Given the description of an element on the screen output the (x, y) to click on. 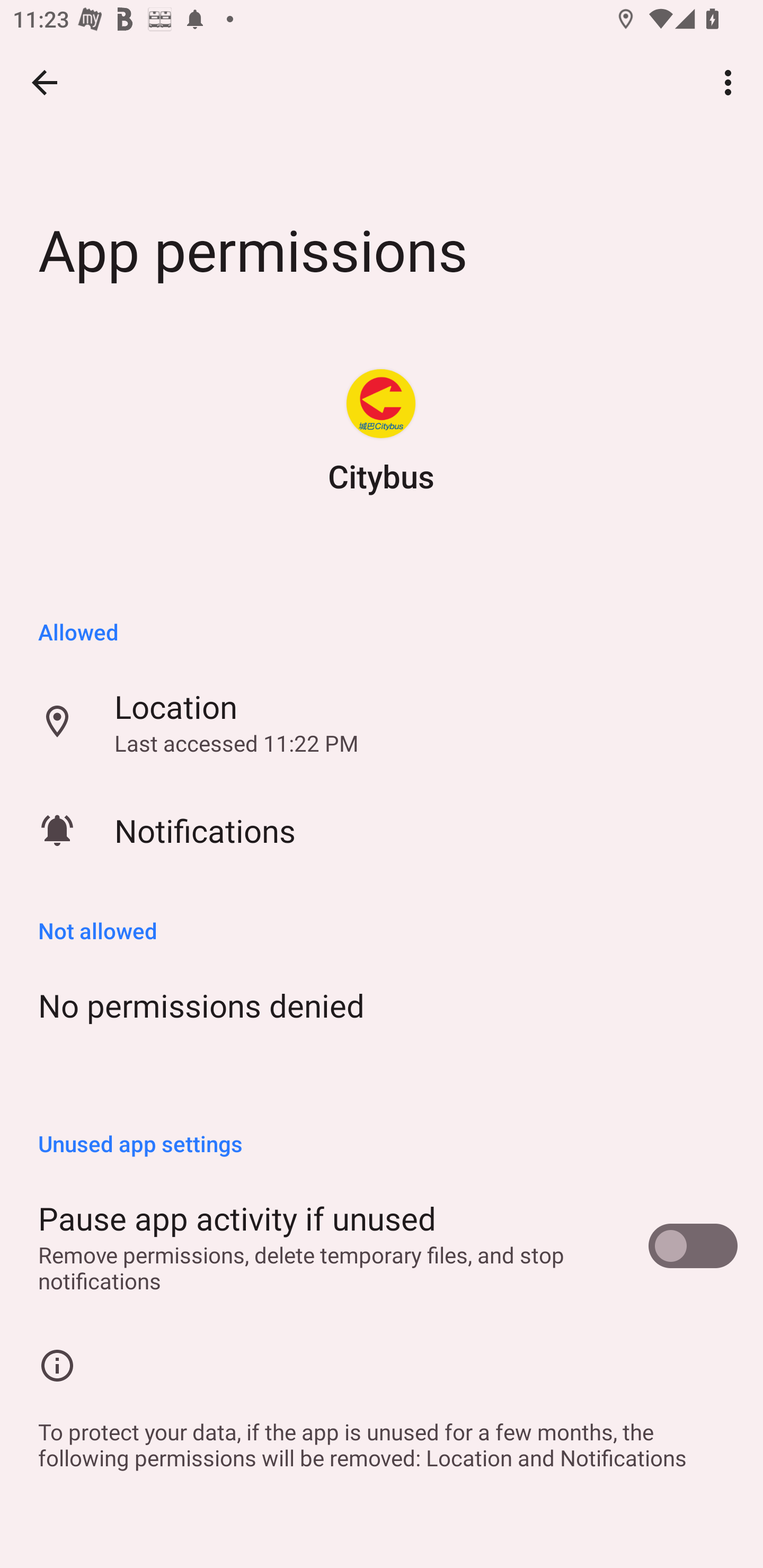
Back (44, 82)
More options (731, 81)
Citybus (380, 403)
Location Last accessed 11:22 PM (381, 722)
Notifications (381, 830)
